Given the description of an element on the screen output the (x, y) to click on. 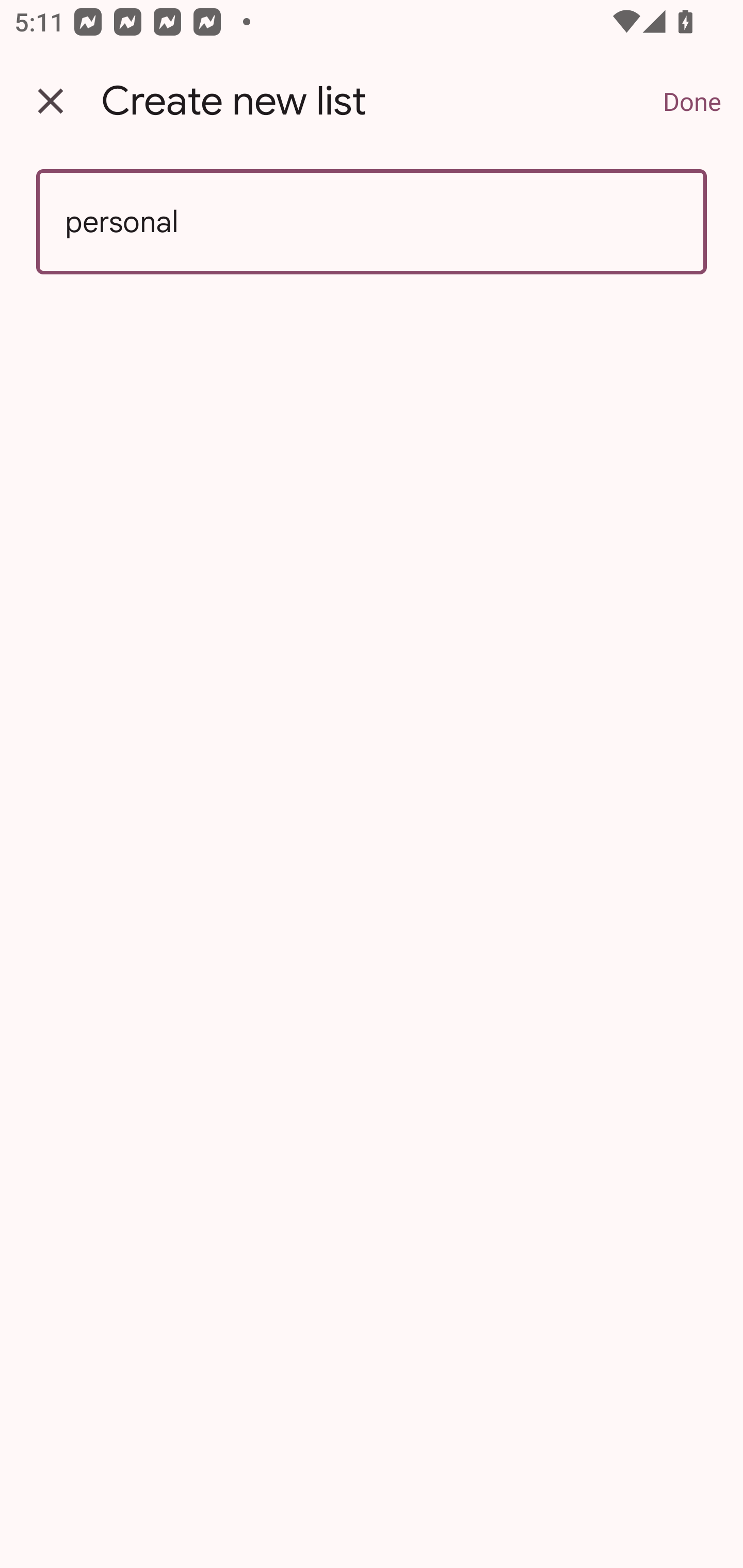
Back (50, 101)
Done (692, 101)
personal (371, 221)
